Given the description of an element on the screen output the (x, y) to click on. 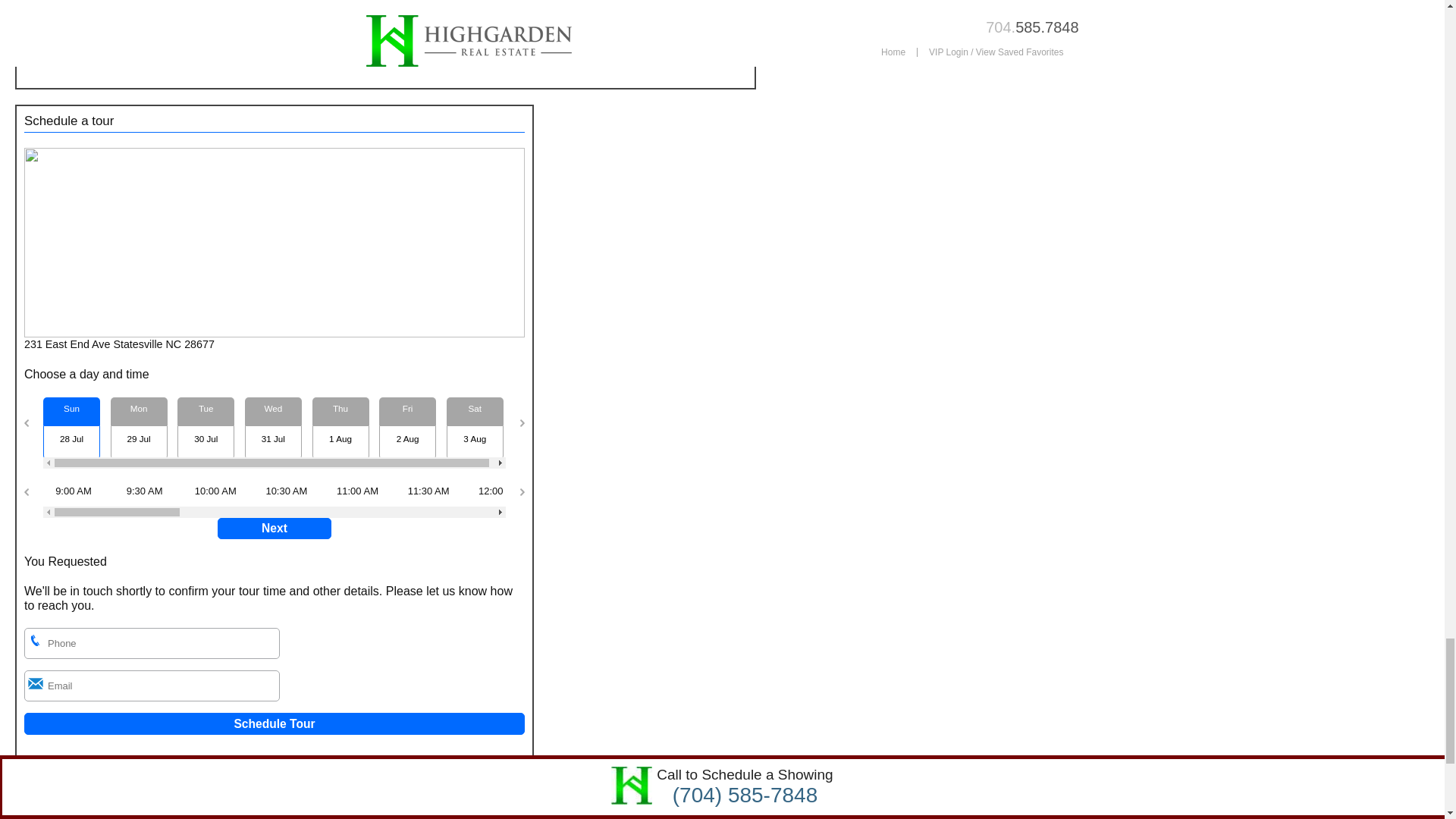
Next (273, 527)
